Given the description of an element on the screen output the (x, y) to click on. 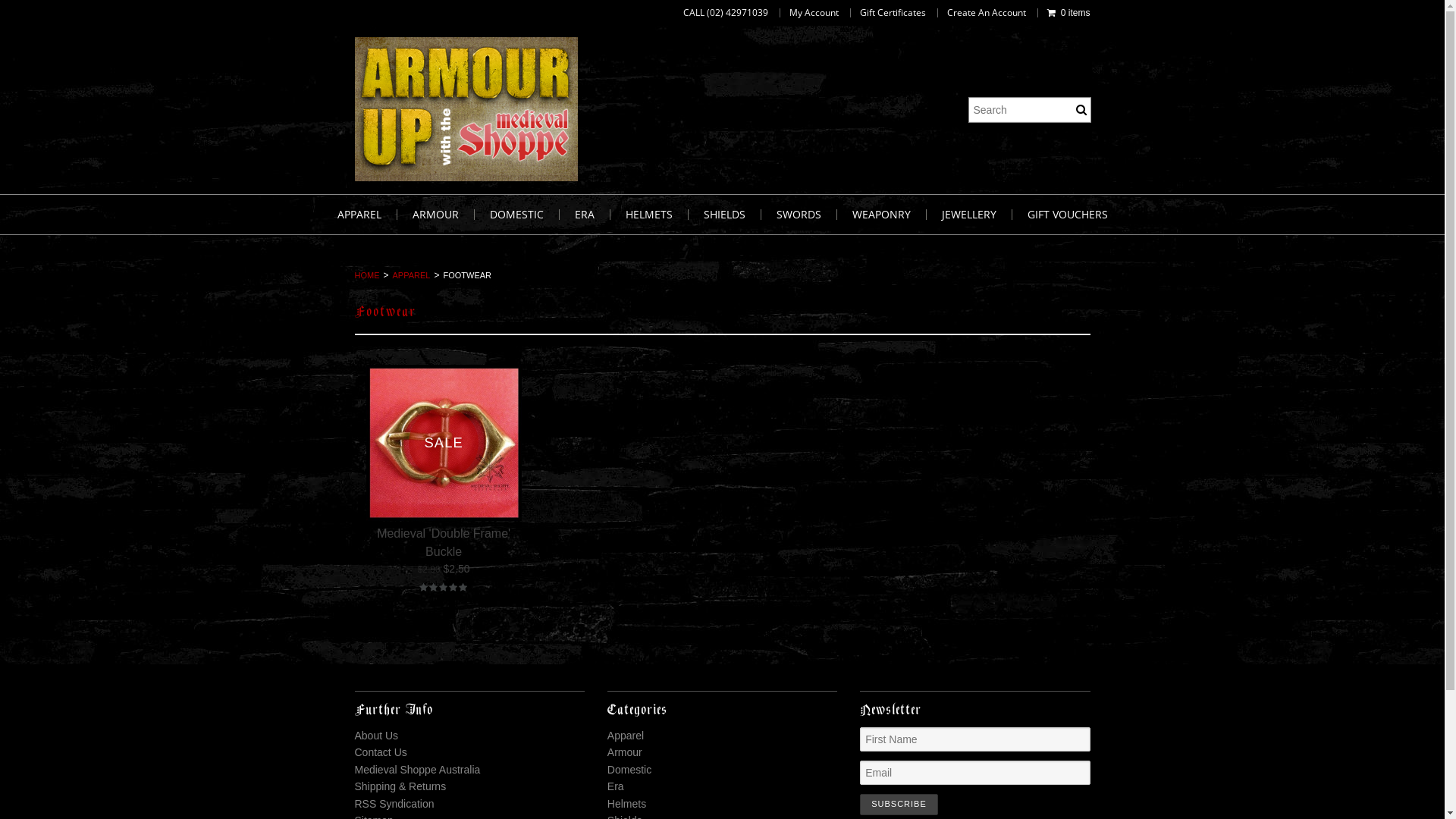
RSS Syndication Element type: text (394, 803)
About Us Element type: text (376, 735)
My Account Element type: text (813, 12)
Subscribe Element type: text (898, 804)
Contact Us Element type: text (380, 752)
Medieval Shoppe Australia Element type: text (417, 769)
SALE Element type: text (442, 442)
APPAREL Element type: text (409, 274)
Create An Account Element type: text (986, 12)
Era Element type: text (615, 786)
Apparel Element type: text (625, 735)
Armour Element type: text (624, 752)
JEWELLERY Element type: text (969, 214)
Shipping & Returns Element type: text (400, 786)
SWORDS Element type: text (799, 214)
GIFT VOUCHERS Element type: text (1066, 214)
Compare Selected Element type: text (78, 14)
Medieval 'Double Frame' Buckle Element type: text (443, 542)
0 items Element type: text (1068, 12)
Domestic Element type: text (629, 769)
CALL (02) 42971039 Element type: text (725, 12)
APPAREL Element type: text (358, 214)
SHIELDS Element type: text (724, 214)
HELMETS Element type: text (648, 214)
DOMESTIC Element type: text (516, 214)
ERA Element type: text (584, 214)
WEAPONRY Element type: text (881, 214)
HOME Element type: text (366, 274)
Helmets Element type: text (626, 803)
ARMOUR Element type: text (435, 214)
Gift Certificates Element type: text (892, 12)
